Given the description of an element on the screen output the (x, y) to click on. 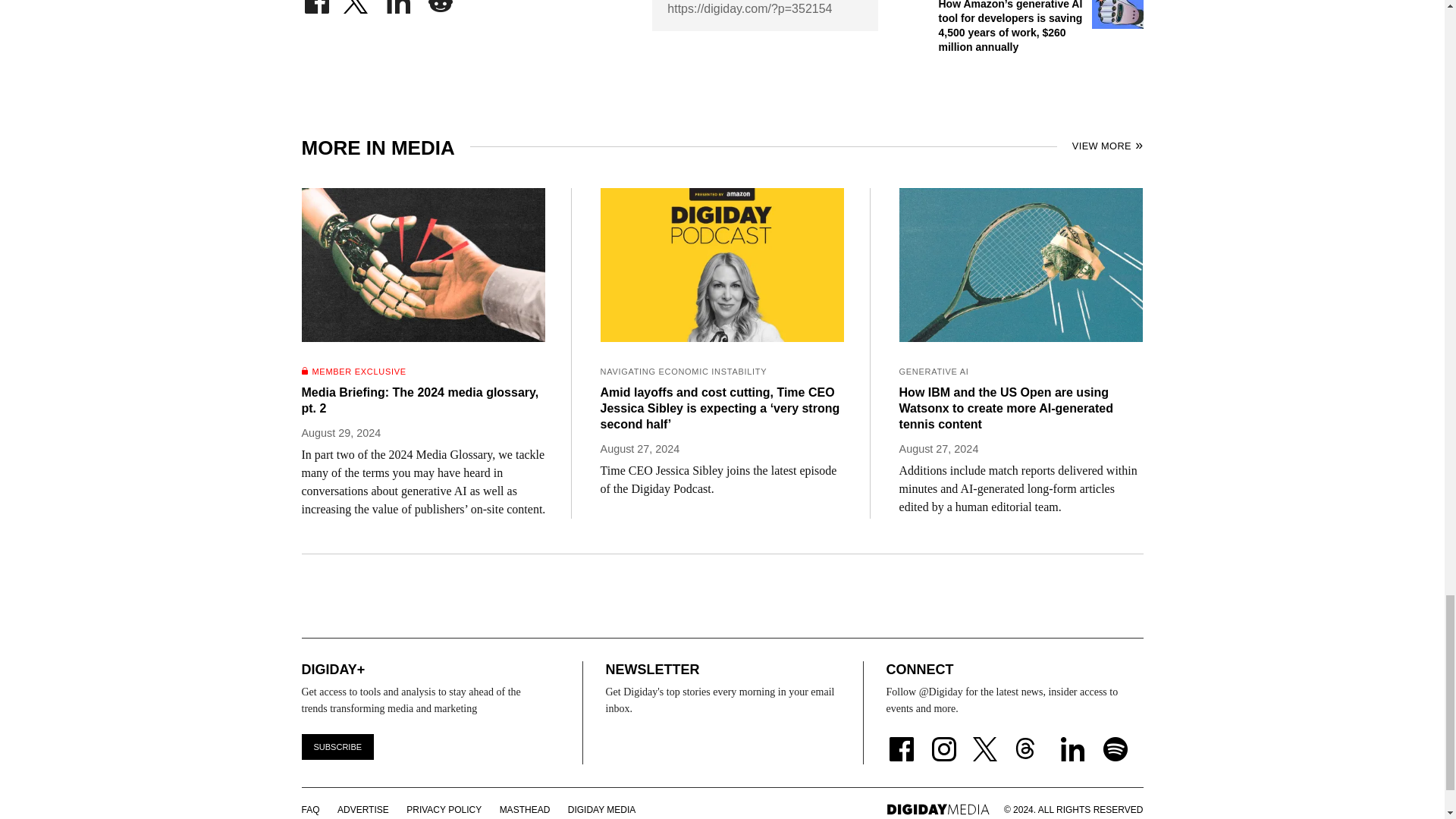
Share on Reddit (440, 2)
Share on Twitter (357, 2)
Share on LinkedIn (398, 2)
Share on Facebook (316, 2)
